Given the description of an element on the screen output the (x, y) to click on. 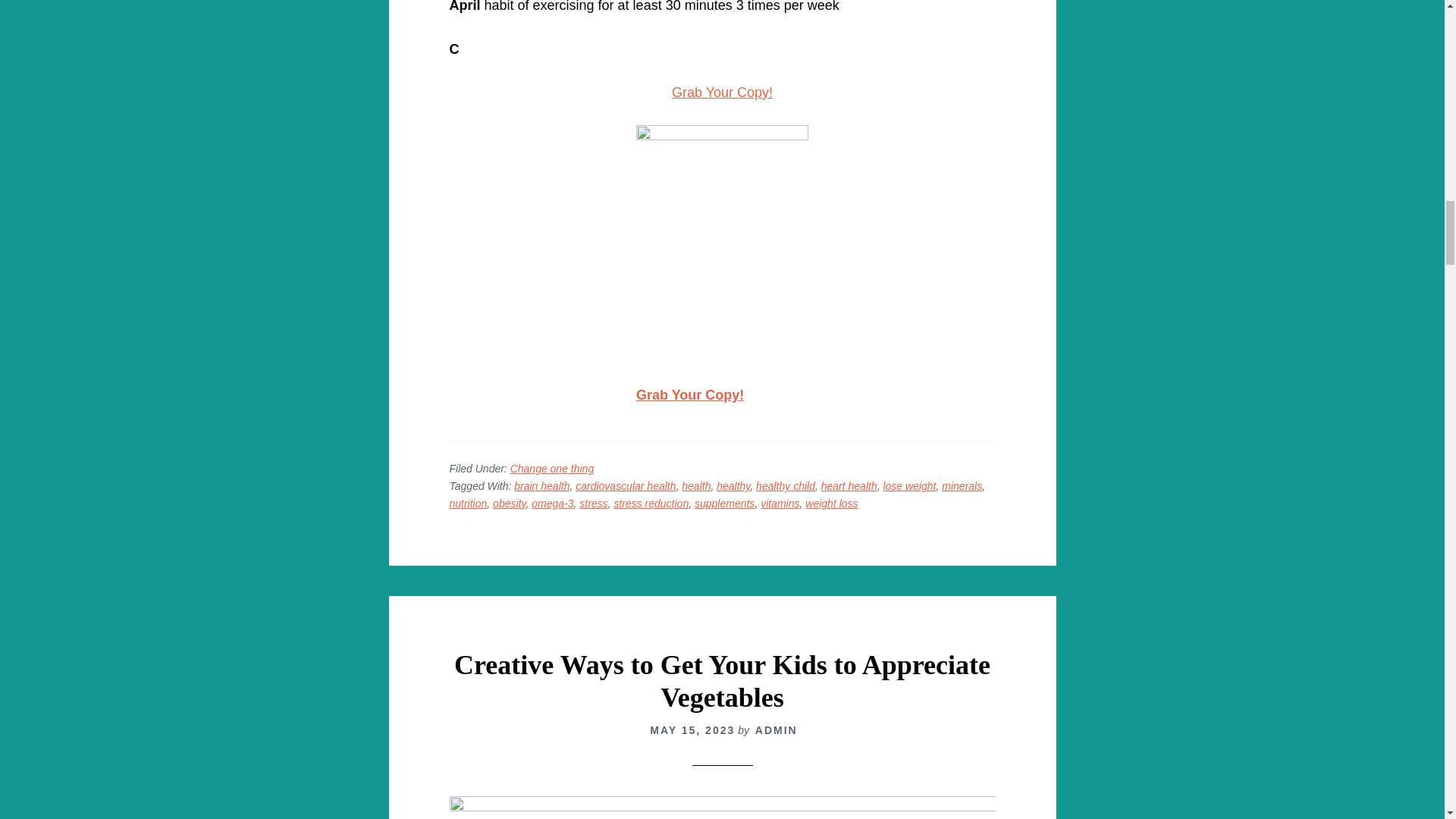
lose weight (909, 485)
healthy (732, 485)
Creative Ways to Get Your Kids to Appreciate Vegetables (722, 681)
cardiovascular health (625, 485)
Grab Your Copy! (722, 92)
weight loss (831, 503)
supplements (724, 503)
minerals (961, 485)
stress reduction (650, 503)
vitamins (779, 503)
